Given the description of an element on the screen output the (x, y) to click on. 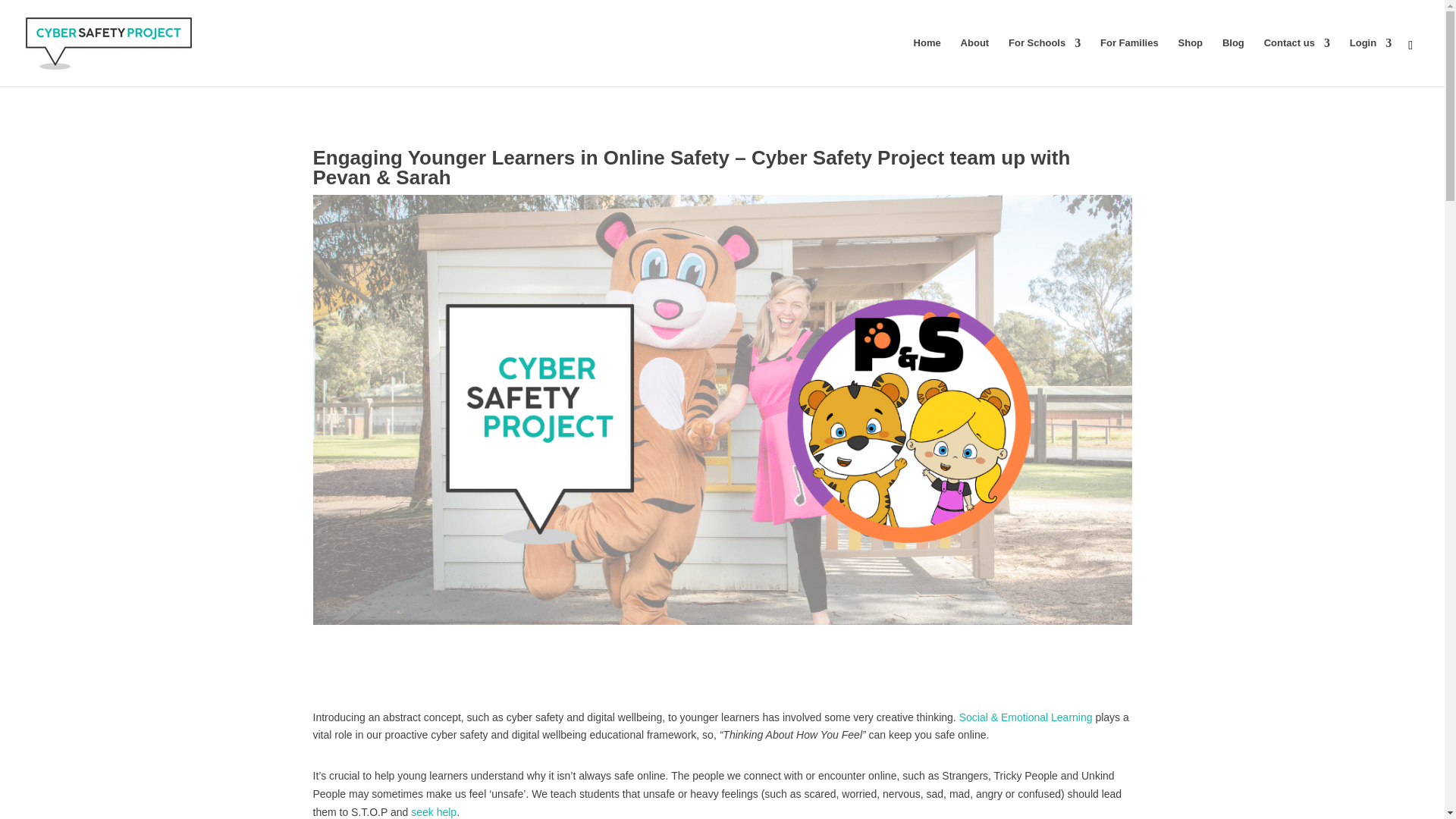
For Families (1129, 61)
For Schools (1044, 61)
Contact us (1296, 61)
